Given the description of an element on the screen output the (x, y) to click on. 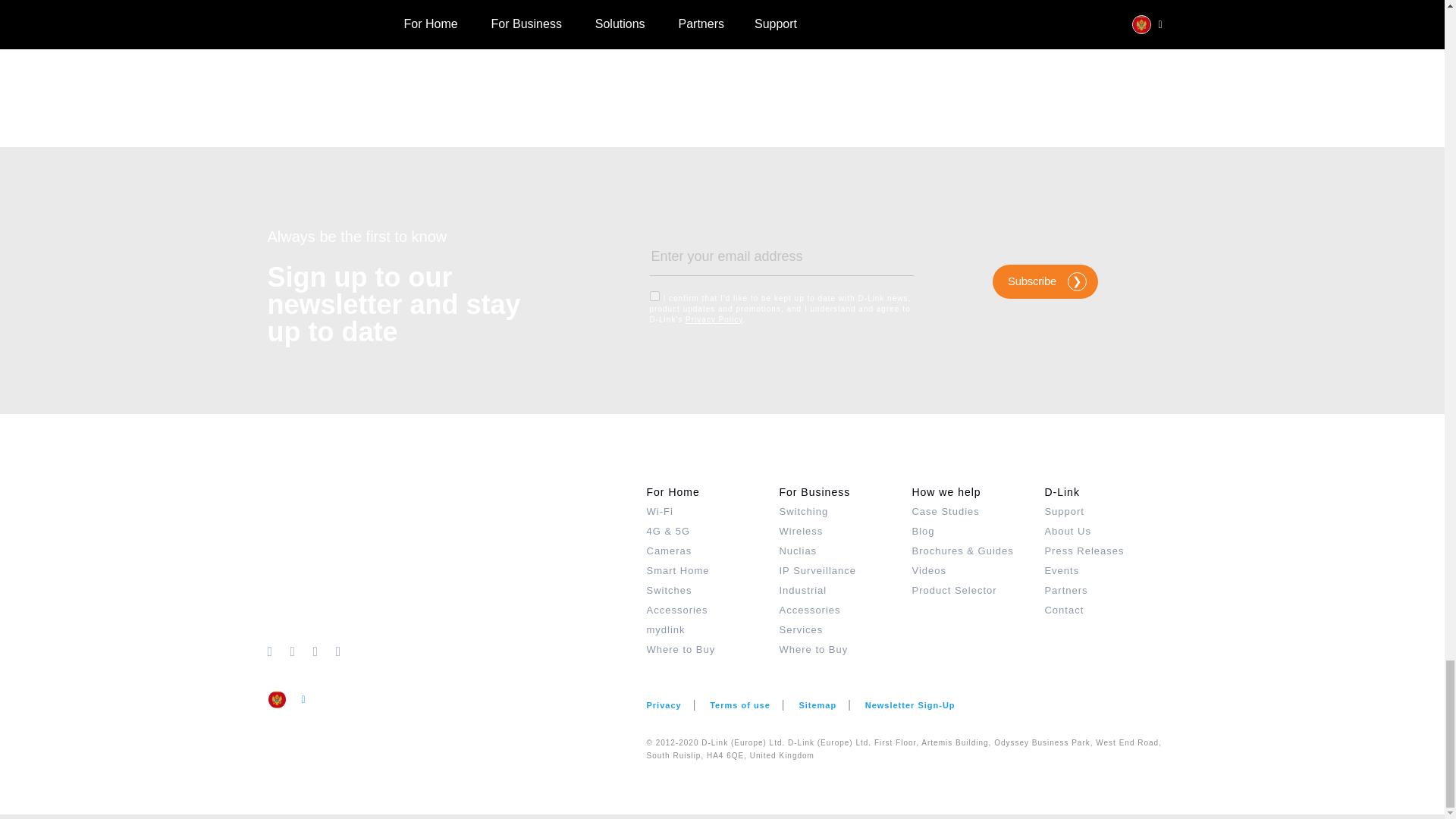
D-Link (456, 561)
True (654, 296)
